Given the description of an element on the screen output the (x, y) to click on. 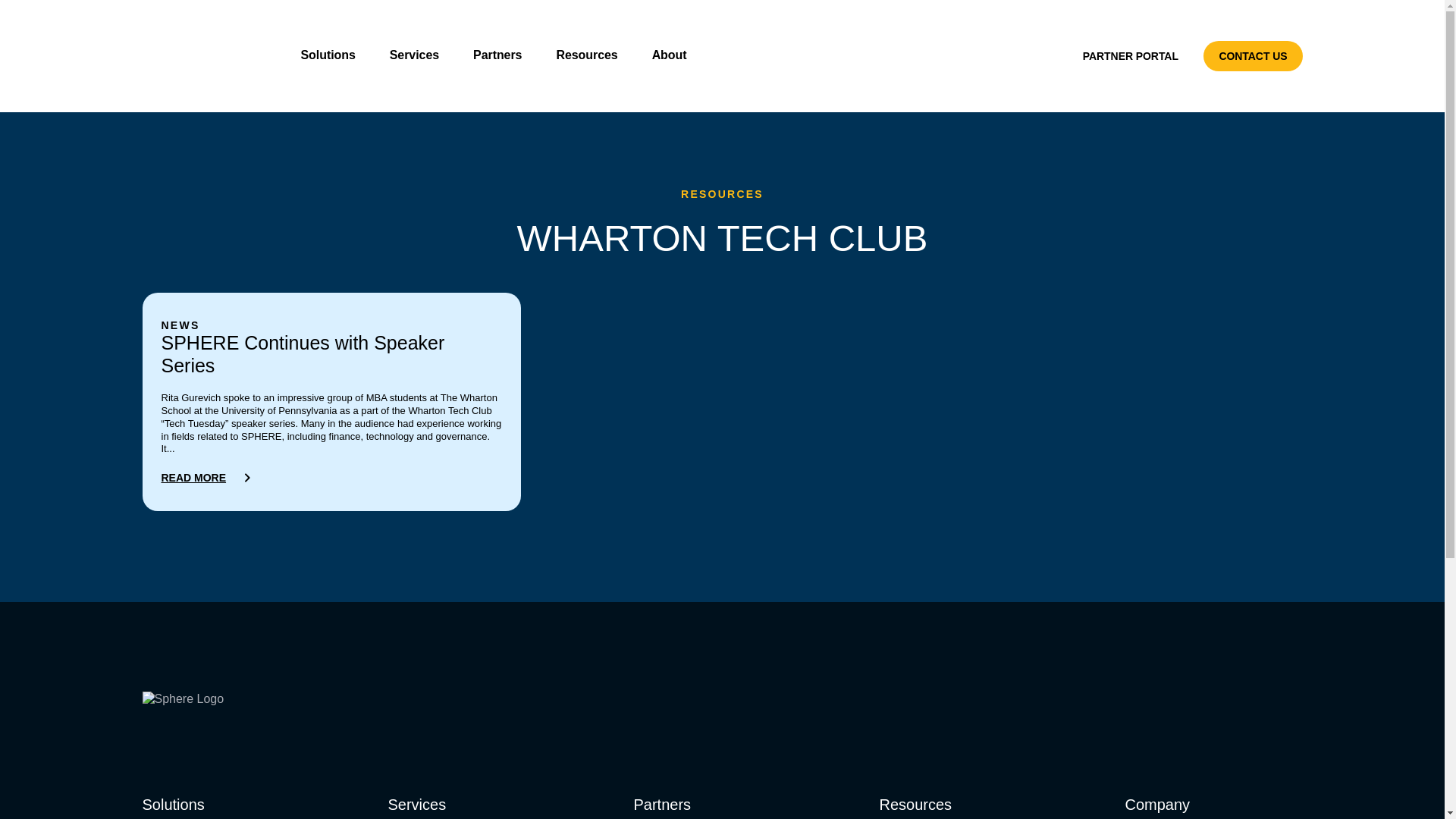
CONTACT US (1252, 55)
Partners (502, 55)
About (675, 55)
Services (419, 55)
Resources (592, 55)
Solutions (332, 55)
PARTNER PORTAL (1130, 55)
